Given the description of an element on the screen output the (x, y) to click on. 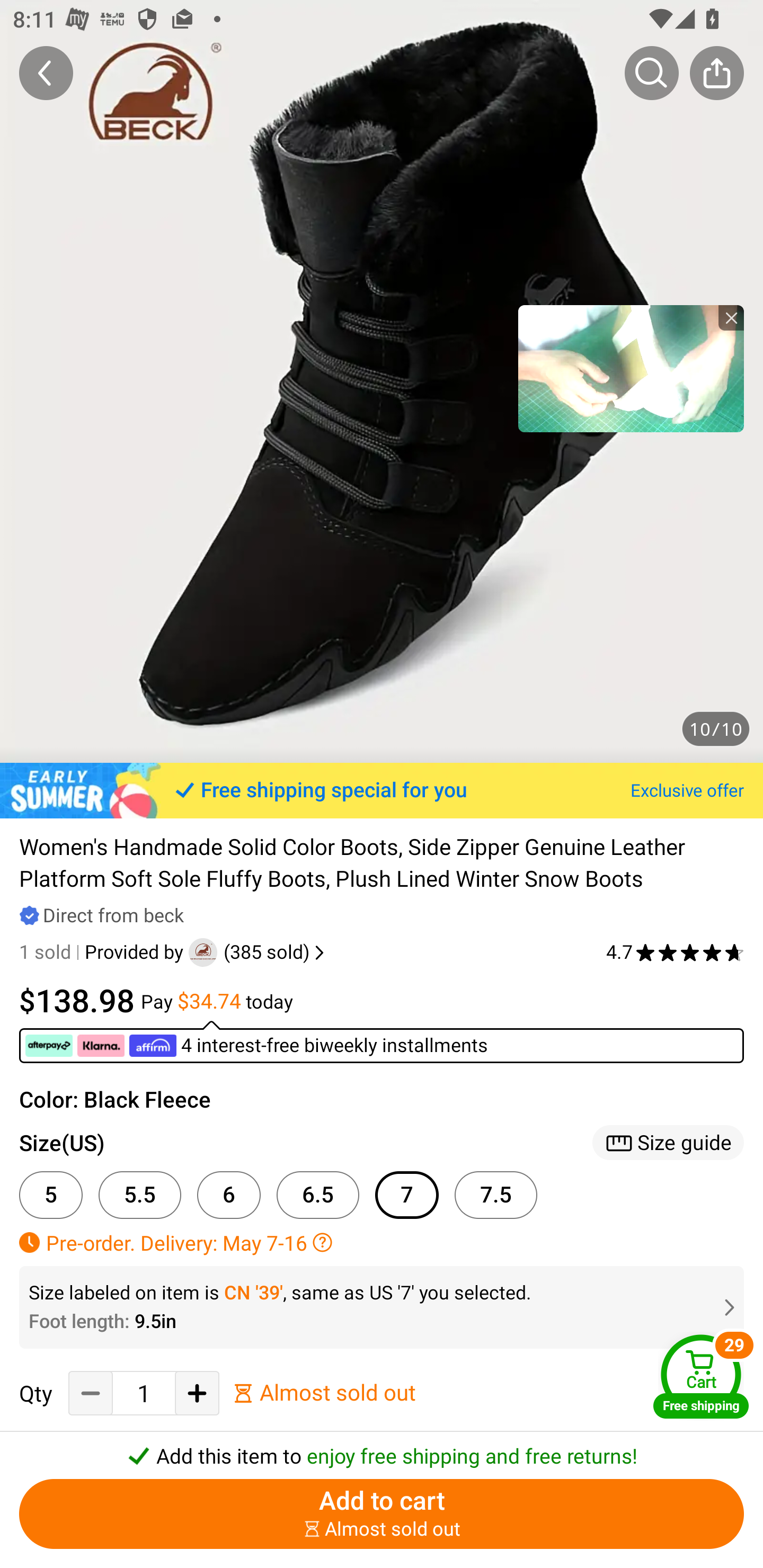
Back (46, 72)
Share (716, 72)
tronplayer_view (631, 368)
Free shipping special for you Exclusive offer (381, 790)
1 sold Provided by  (103, 952)
4.7 (674, 952)
￼ ￼ ￼ 4 interest-free biweekly installments (381, 1041)
 Size guide (667, 1142)
5 (50, 1194)
5.5 (139, 1194)
6 (228, 1194)
6.5 (317, 1194)
7 (406, 1194)
7.5 (495, 1194)
Pre-order. Delivery: May 7-16 (381, 1241)
Cart Free shipping Cart (701, 1375)
Decrease Quantity Button (90, 1392)
Add Quantity button (196, 1392)
1 (143, 1393)
Add to cart ￼￼Almost sold out (381, 1513)
